Given the description of an element on the screen output the (x, y) to click on. 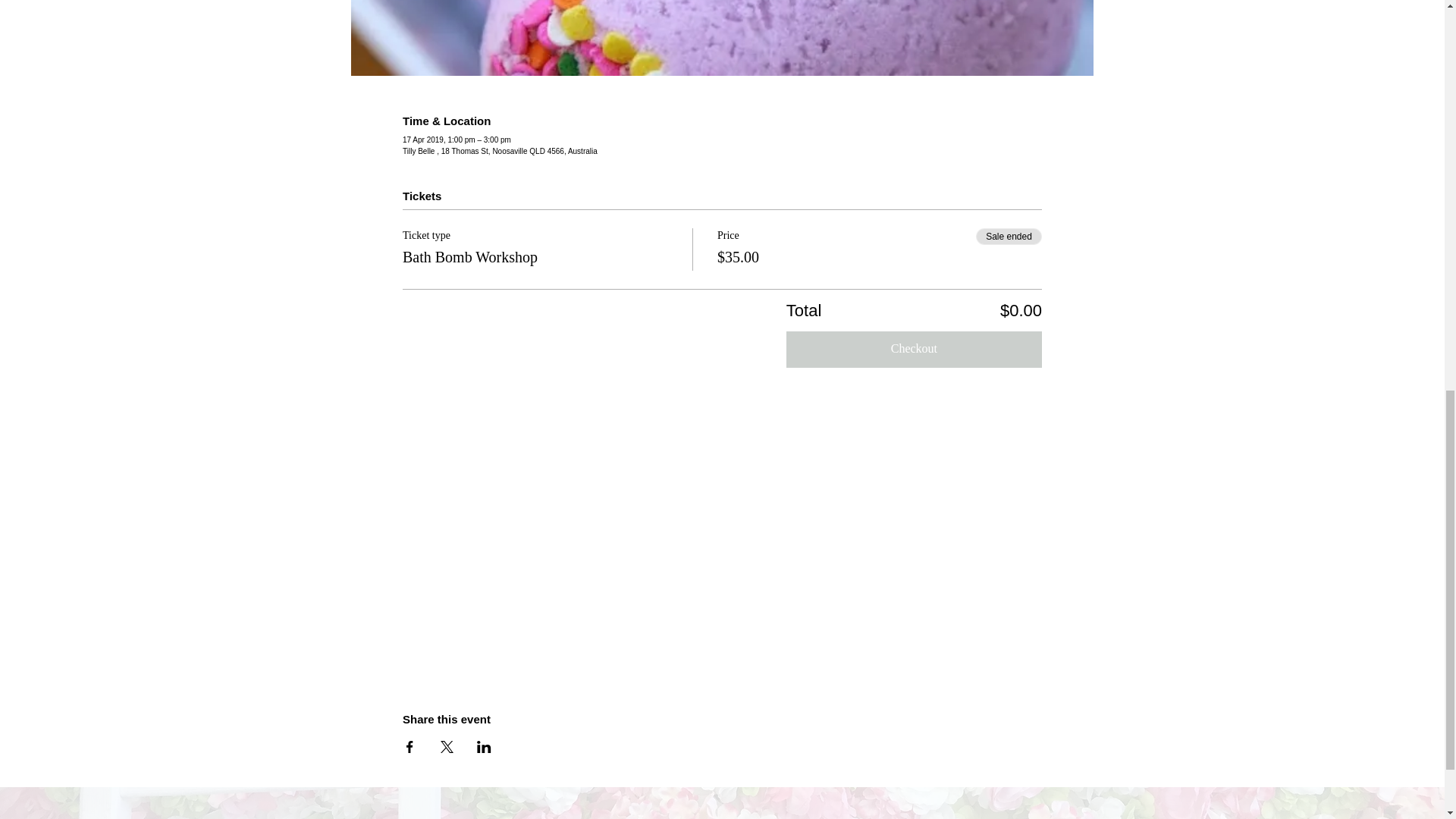
Checkout (914, 349)
